Given the description of an element on the screen output the (x, y) to click on. 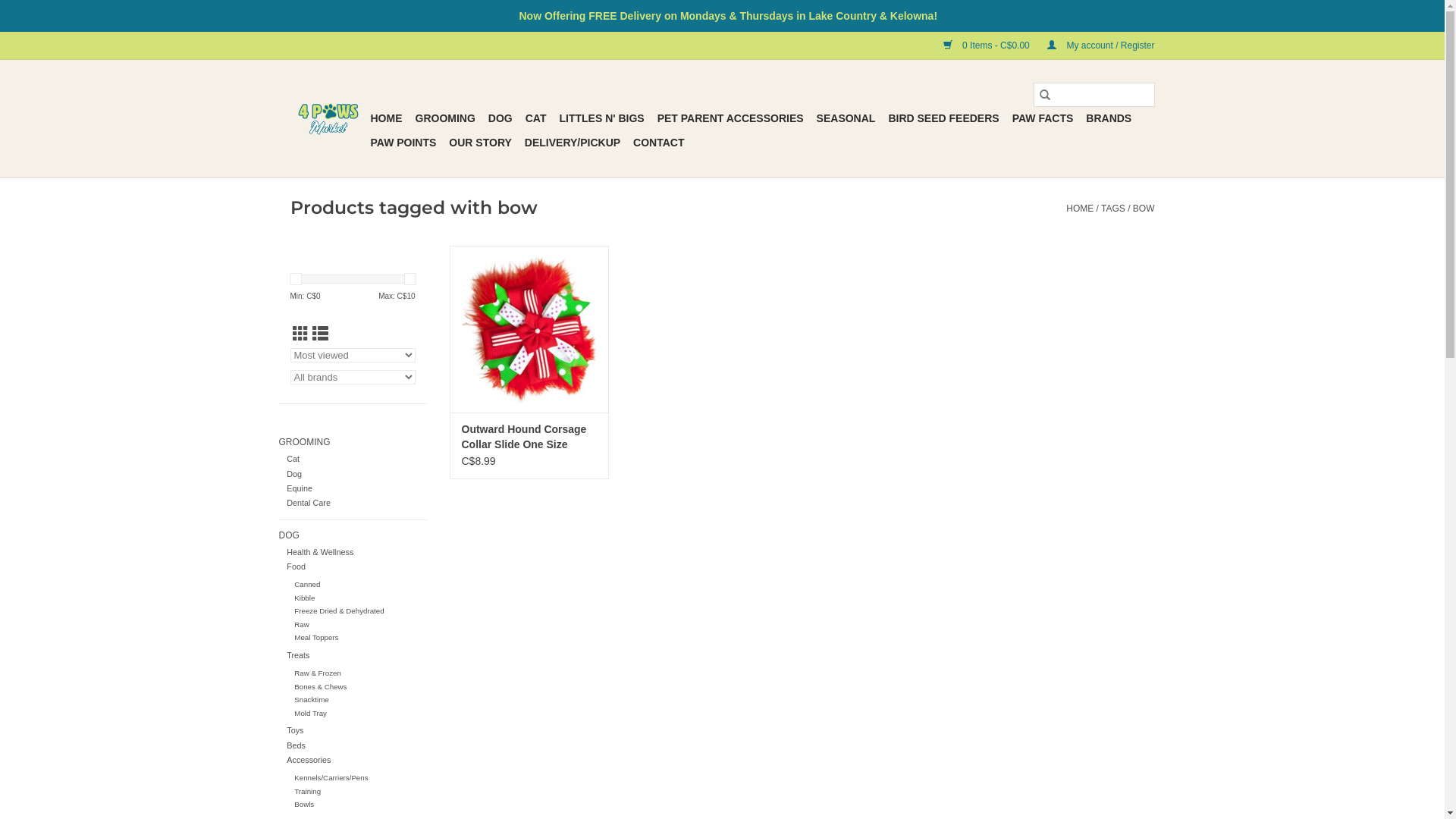
Kennels/Carriers/Pens Element type: text (330, 777)
Freeze Dried & Dehydrated Element type: text (338, 610)
HOME Element type: text (385, 118)
HOME Element type: text (1079, 208)
Bowls Element type: text (303, 804)
Outward Hound Corsage Collar Slide One Size Element type: hover (528, 328)
Mold Tray Element type: text (310, 713)
Dental Care Element type: text (308, 502)
DOG Element type: text (500, 118)
Kibble Element type: text (304, 597)
TAGS Element type: text (1113, 208)
GROOMING Element type: text (445, 118)
4 Paws Market Element type: hover (327, 119)
GROOMING Element type: text (352, 442)
BIRD SEED FEEDERS Element type: text (943, 118)
Dog Element type: text (293, 473)
0 Items - C$0.00 Element type: text (980, 45)
Beds Element type: text (295, 744)
Training Element type: text (307, 791)
Toys Element type: text (294, 729)
SEASONAL Element type: text (846, 118)
Meal Toppers Element type: text (316, 637)
Cat Element type: text (292, 458)
PET PARENT ACCESSORIES Element type: text (730, 118)
PAW FACTS Element type: text (1042, 118)
Canned Element type: text (307, 584)
Accessories Element type: text (308, 759)
CAT Element type: text (535, 118)
Food Element type: text (295, 566)
Raw Element type: text (301, 624)
Treats Element type: text (297, 654)
Raw & Frozen Element type: text (317, 672)
Bones & Chews Element type: text (320, 686)
PAW POINTS Element type: text (402, 142)
DOG Element type: text (352, 535)
DELIVERY/PICKUP Element type: text (572, 142)
Equine Element type: text (299, 487)
Outward Hound Corsage Collar Slide One Size Element type: text (528, 436)
OUR STORY Element type: text (479, 142)
Health & Wellness Element type: text (319, 551)
CONTACT Element type: text (658, 142)
LITTLES N' BIGS Element type: text (601, 118)
Search Element type: hover (1043, 94)
BOW Element type: text (1143, 208)
BRANDS Element type: text (1108, 118)
My account / Register Element type: text (1093, 45)
Snacktime Element type: text (311, 699)
